Given the description of an element on the screen output the (x, y) to click on. 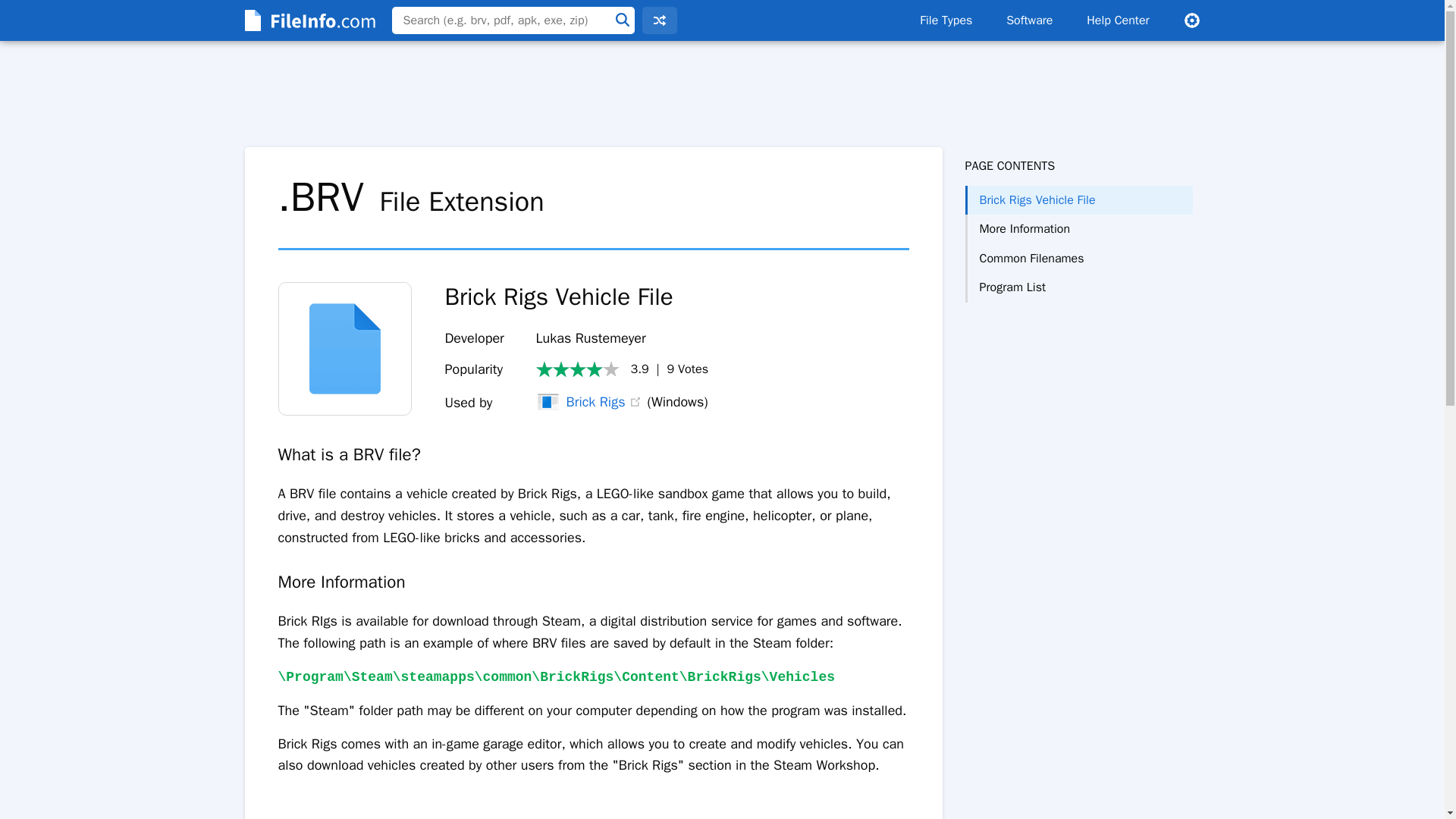
Software (1029, 20)
Common Filenames (1077, 258)
Settings (1190, 20)
Program List (1077, 287)
More Information (1077, 228)
Random (659, 20)
File Types (945, 20)
Brick Rigs Vehicle File (1077, 199)
Brick Rigs (579, 401)
